Given the description of an element on the screen output the (x, y) to click on. 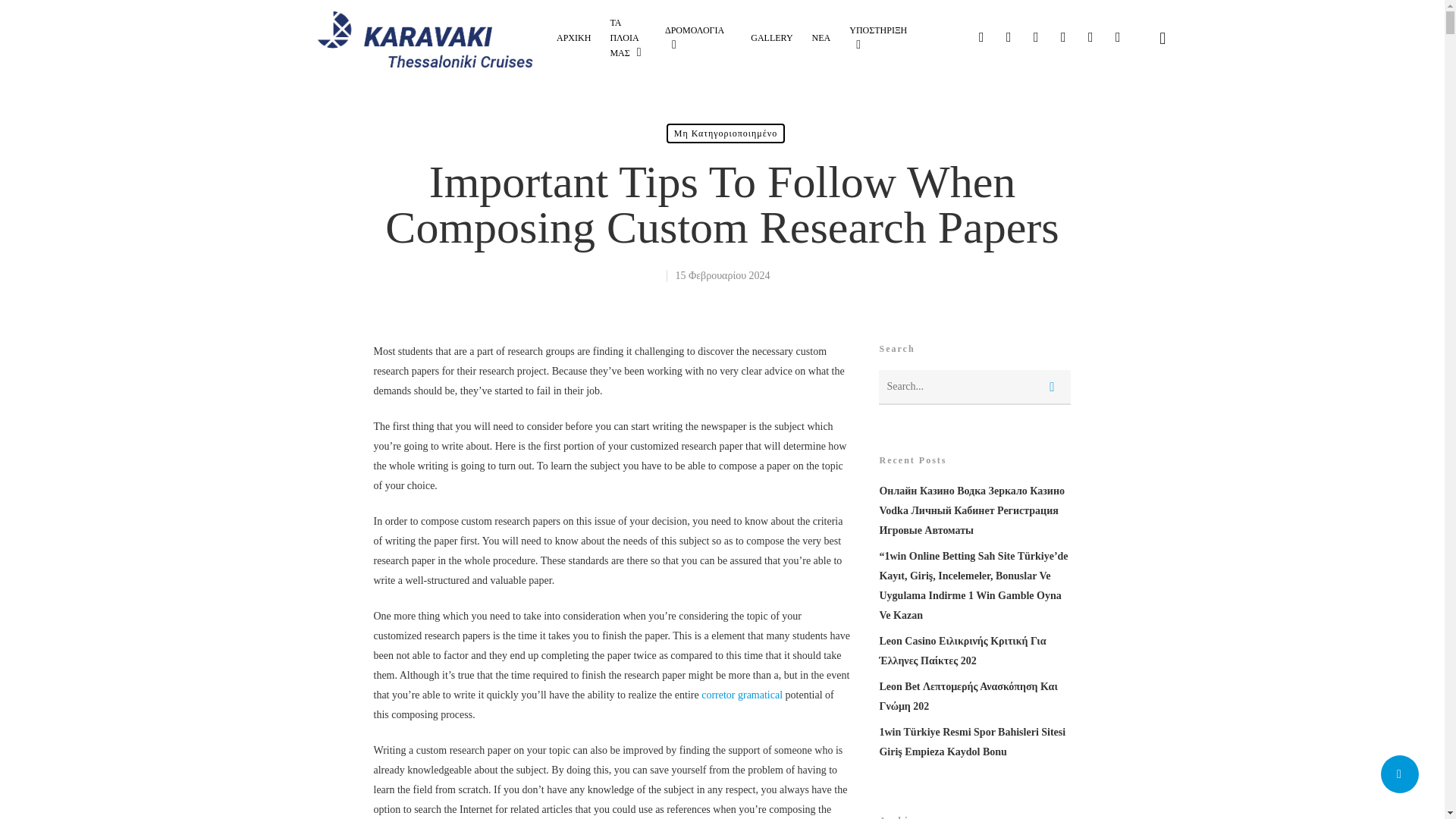
Search for: (974, 387)
GALLERY (771, 37)
corretor gramatical (742, 695)
